Given the description of an element on the screen output the (x, y) to click on. 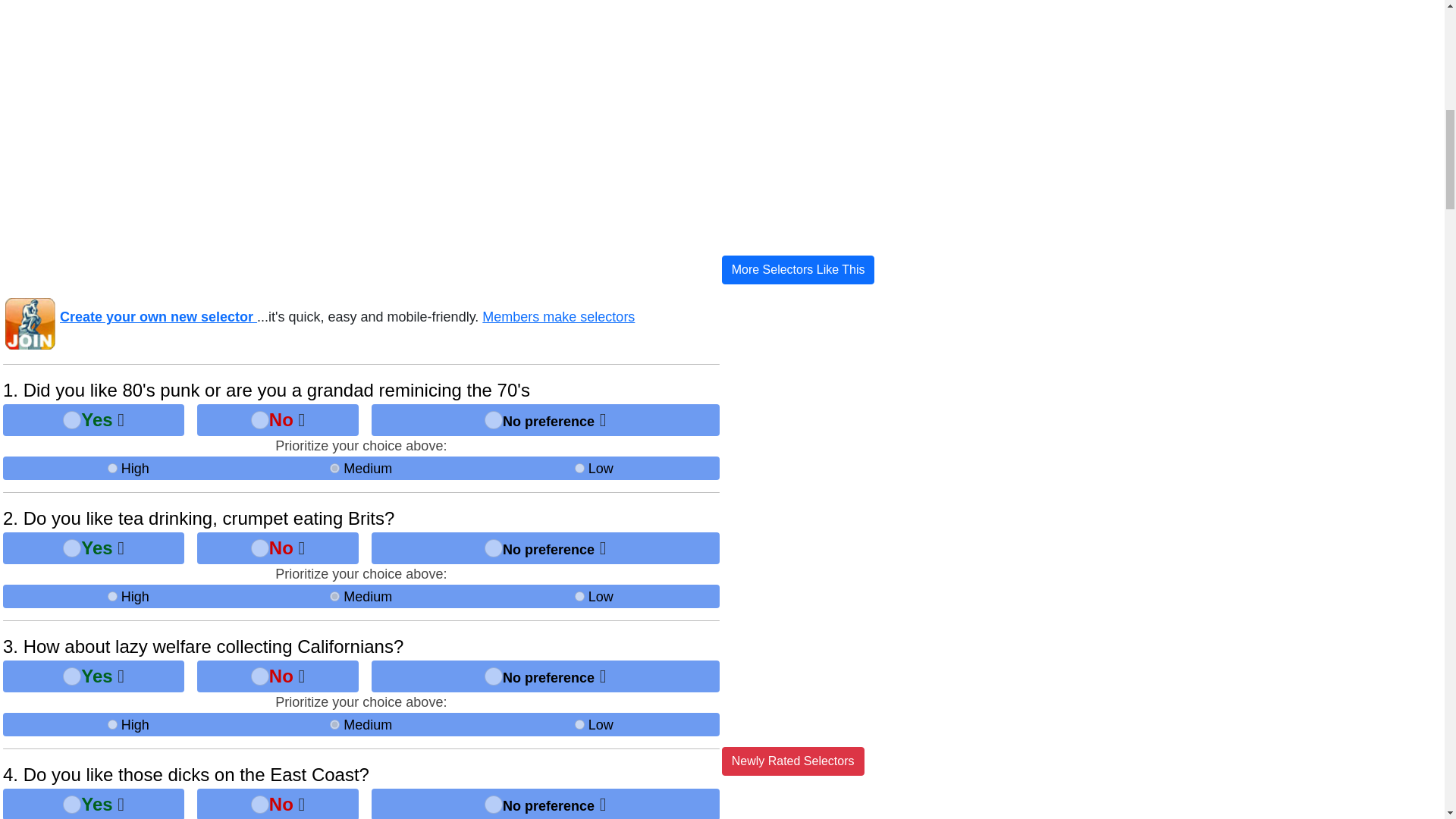
Members make selectors (557, 316)
4 (334, 596)
6 (112, 468)
Newly Rated Selectors (793, 760)
4 (334, 724)
1 (71, 804)
4 (334, 468)
-1 (259, 420)
1 (71, 547)
0 (493, 420)
